Given the description of an element on the screen output the (x, y) to click on. 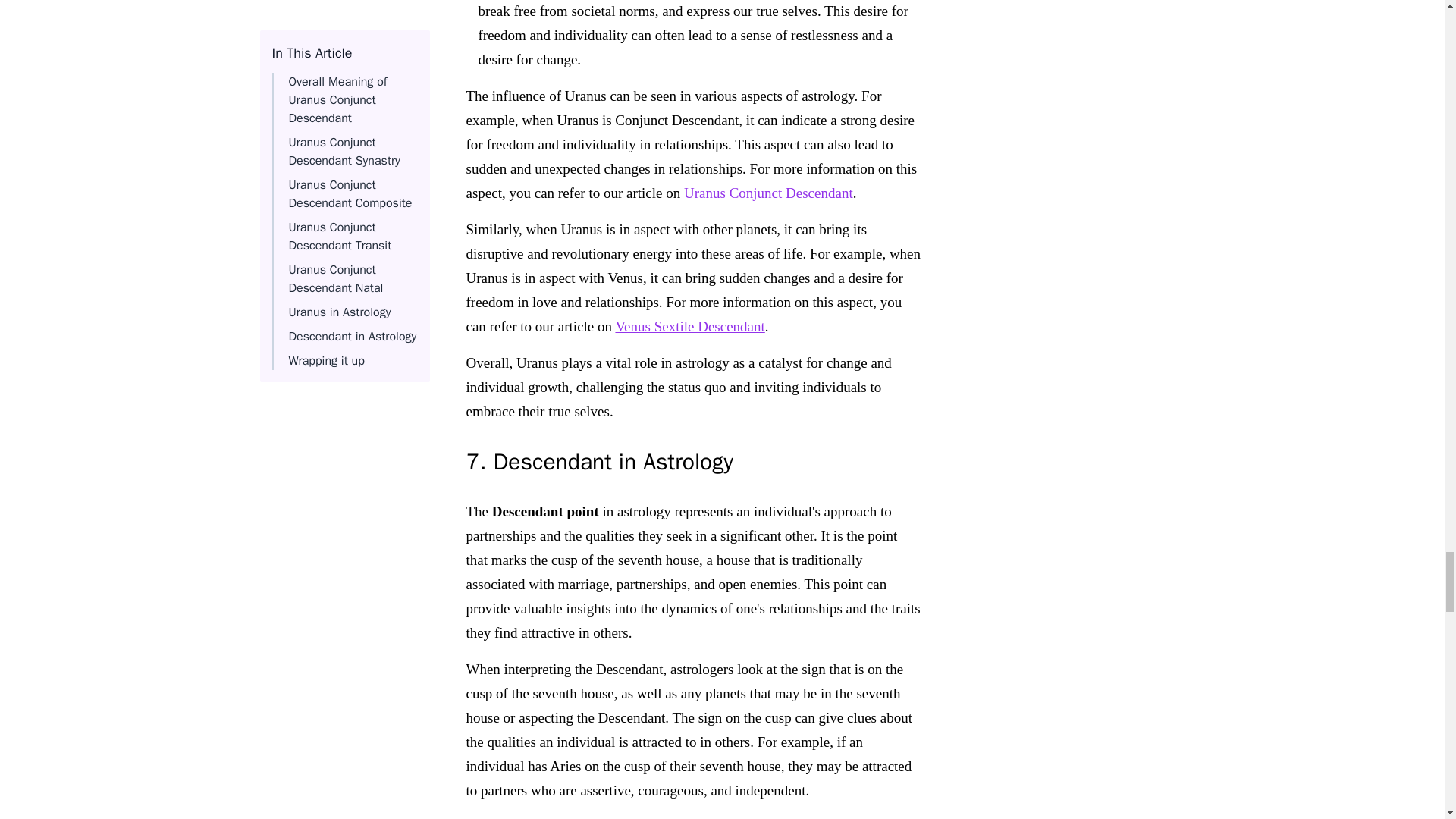
Venus Sextile Descendant (689, 326)
Uranus Conjunct Descendant (768, 192)
